Given the description of an element on the screen output the (x, y) to click on. 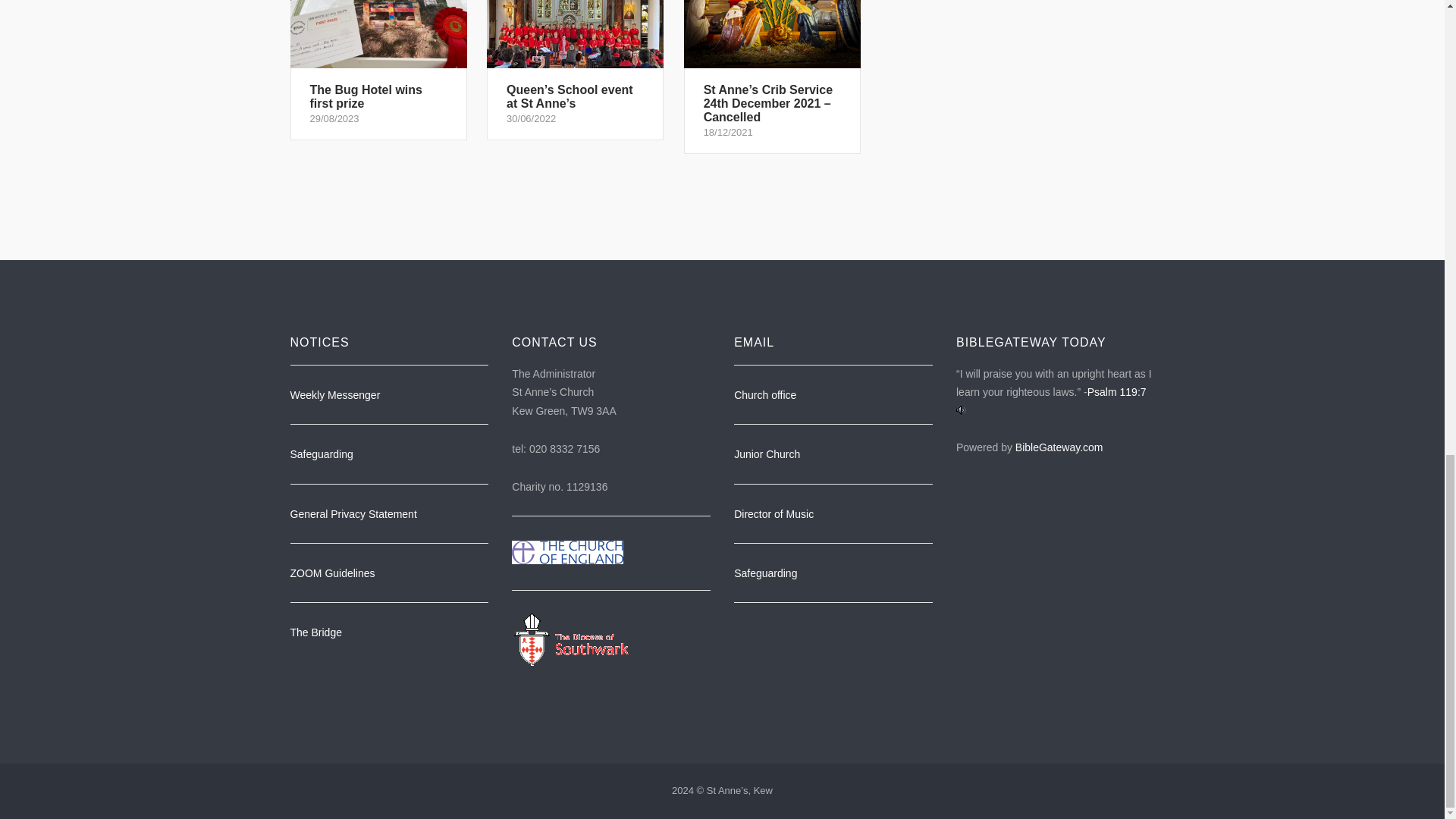
The Bug Hotel wins first prize (377, 70)
Listen to chapter (961, 410)
